Given the description of an element on the screen output the (x, y) to click on. 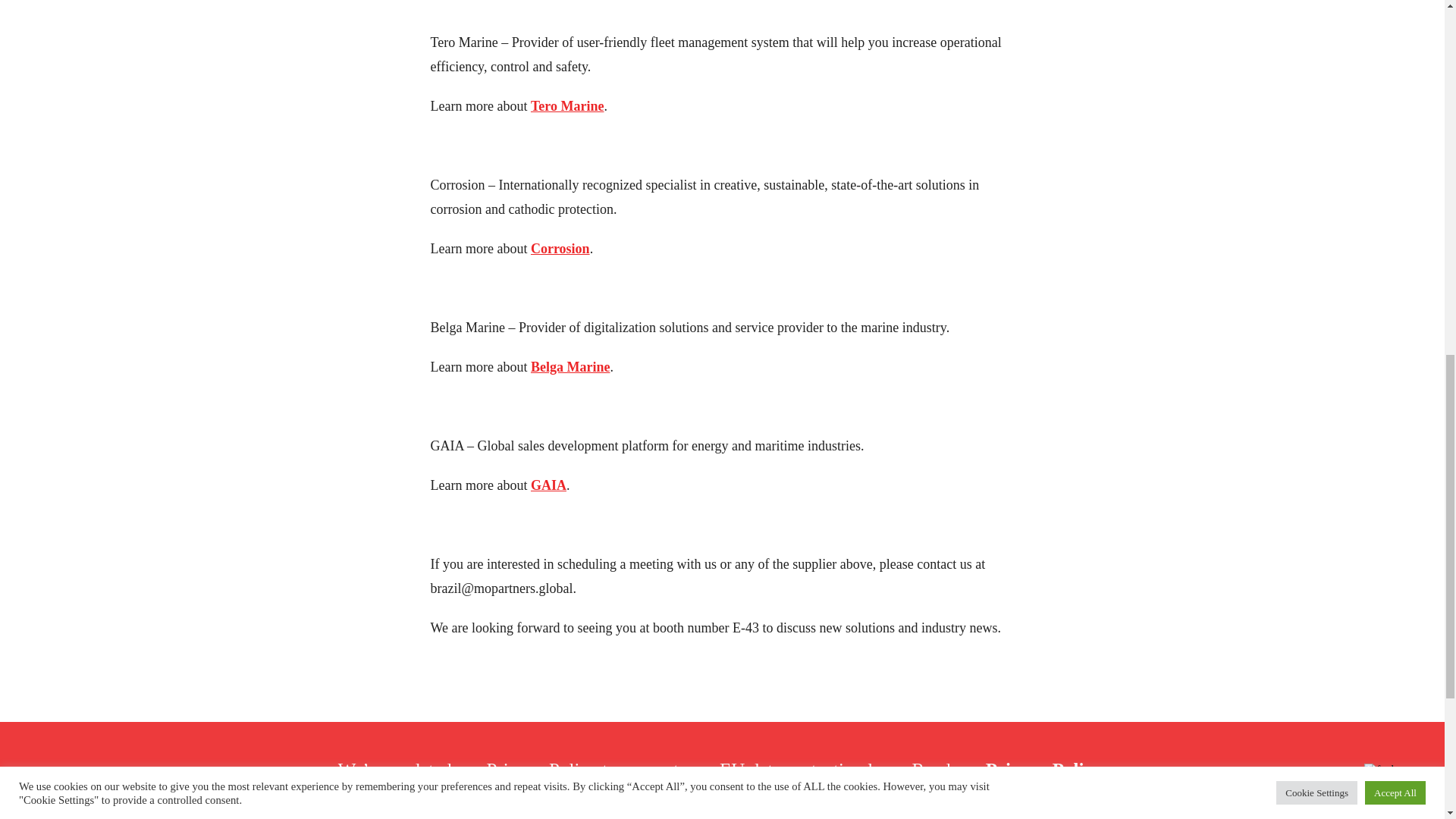
Belga Marine (570, 366)
Corrosion (560, 248)
Tero Marine (567, 105)
GAIA (548, 485)
